Given the description of an element on the screen output the (x, y) to click on. 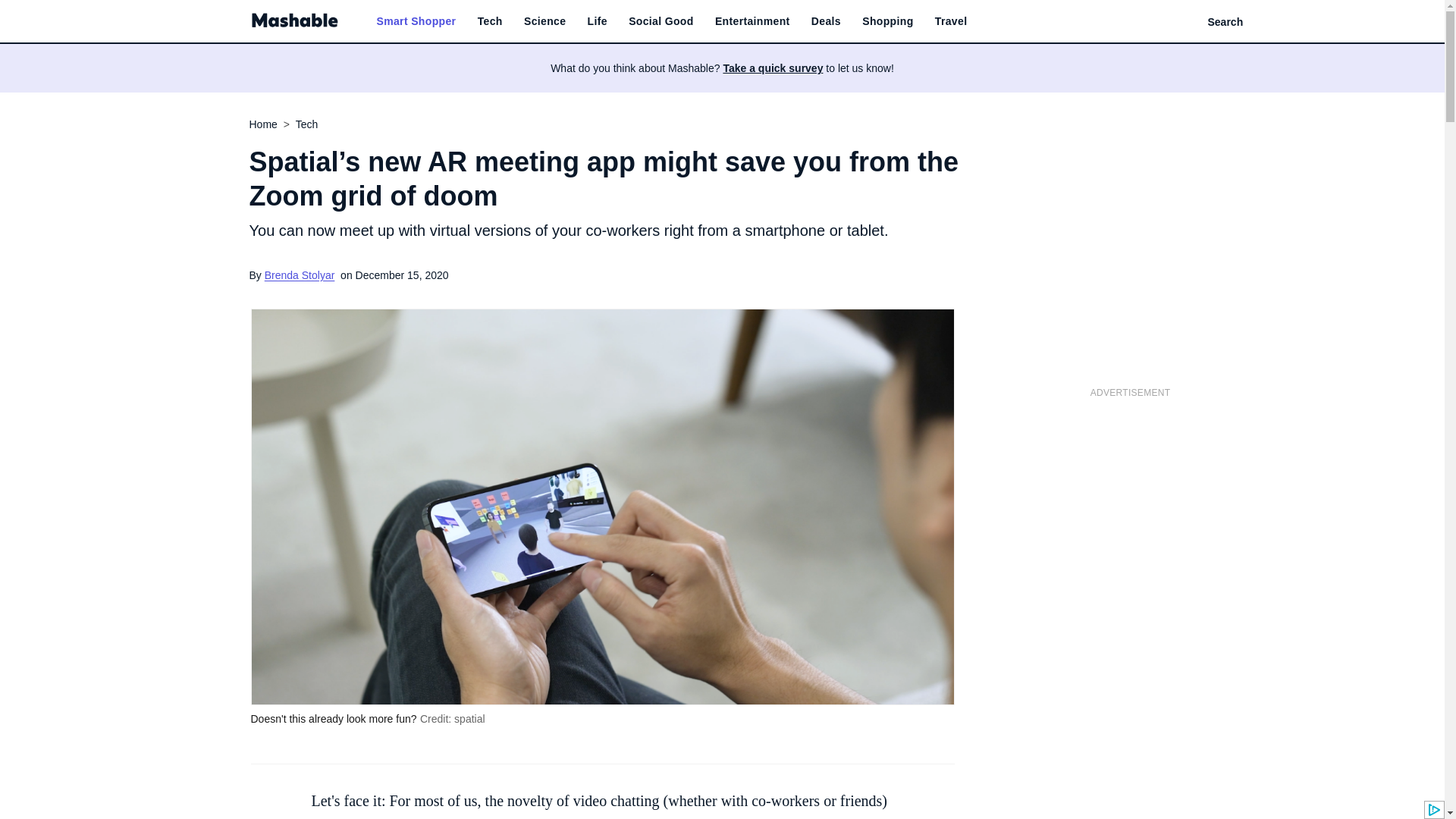
Entertainment (752, 21)
Travel (951, 21)
Deals (825, 21)
Life (597, 21)
Tech (489, 21)
Smart Shopper (415, 21)
Social Good (661, 21)
Science (545, 21)
Shopping (886, 21)
